Given the description of an element on the screen output the (x, y) to click on. 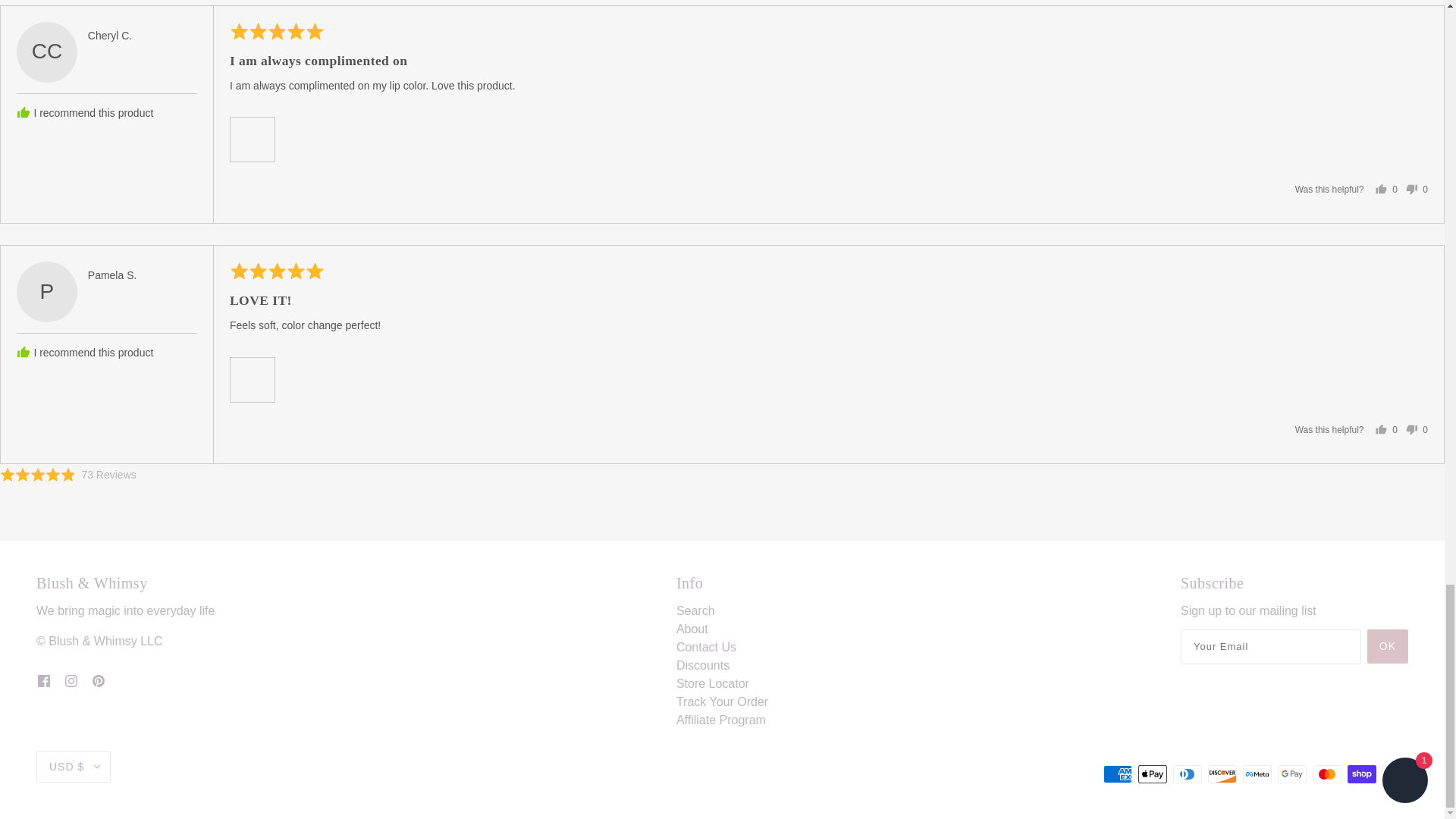
Affiliate Program (721, 719)
Discover (1222, 773)
Search (695, 610)
American Express (1117, 773)
Apple Pay (1152, 773)
Google Pay (1292, 773)
Contact Us (706, 646)
Meta Pay (1257, 773)
Discounts (703, 665)
Diners Club (1187, 773)
Track Your Order (722, 701)
Store Locator (713, 683)
Mastercard (1326, 773)
About (692, 628)
Shop Pay (1361, 773)
